Given the description of an element on the screen output the (x, y) to click on. 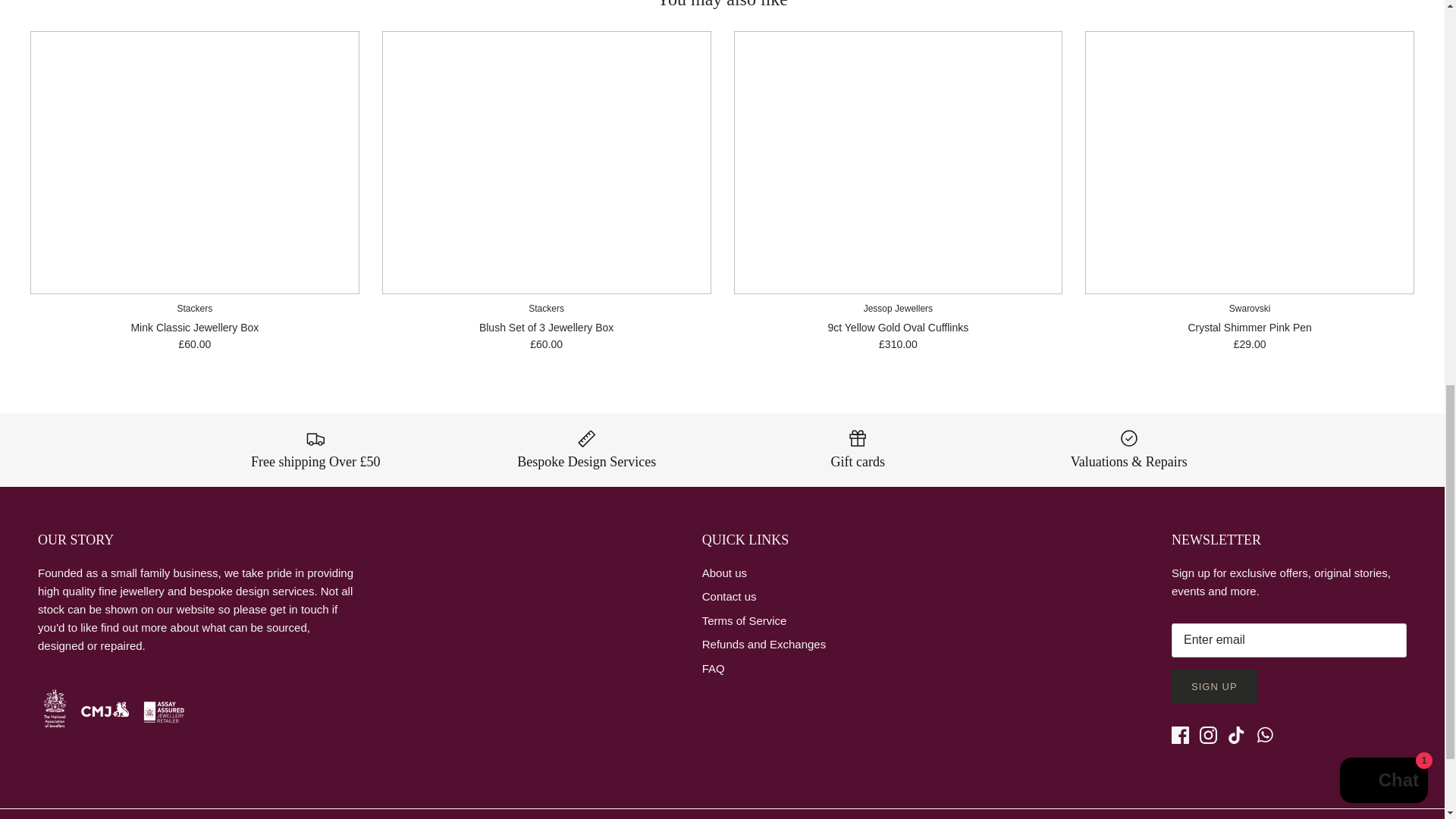
Instagram (1208, 734)
Facebook (1180, 734)
